Given the description of an element on the screen output the (x, y) to click on. 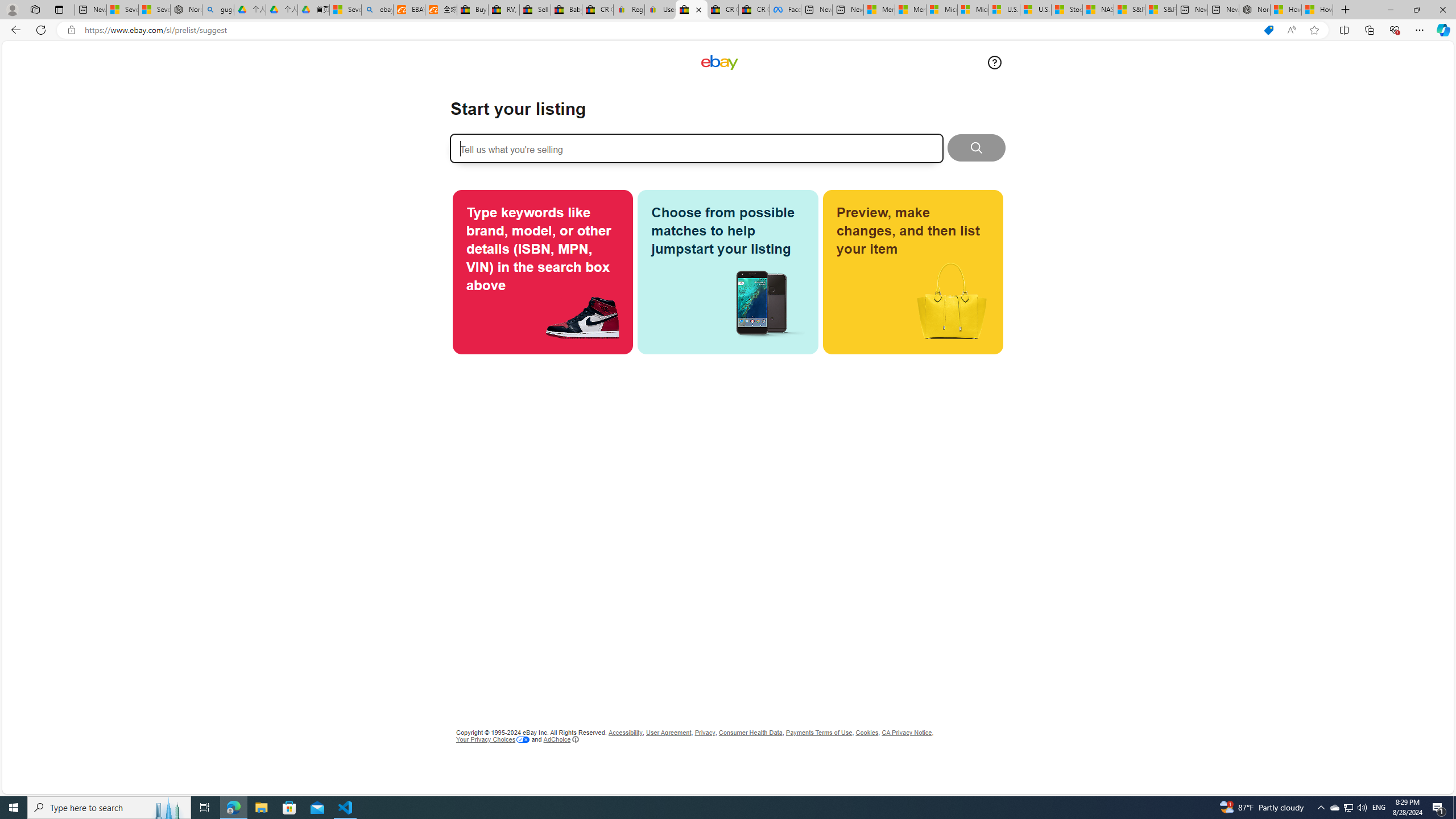
User Agreement (668, 732)
User Privacy Notice | eBay (660, 9)
Tell us what you're selling (696, 148)
This site has coupons! Shopping in Microsoft Edge (1268, 29)
Cookies (867, 732)
eBay Home (719, 62)
AdChoice (561, 739)
